Given the description of an element on the screen output the (x, y) to click on. 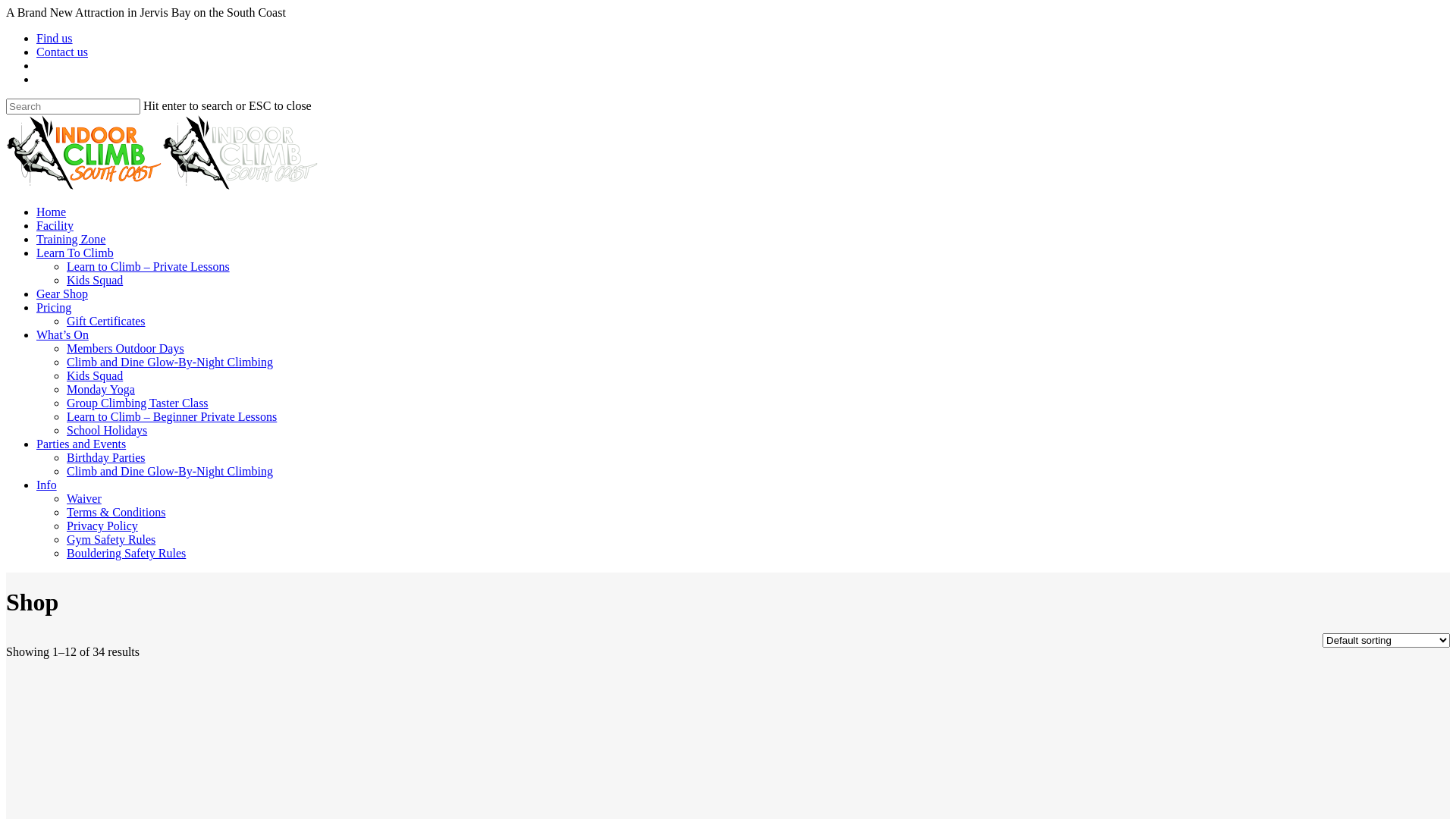
Skip to main content Element type: text (5, 5)
Parties and Events Element type: text (80, 443)
Gym Safety Rules Element type: text (110, 539)
Group Climbing Taster Class Element type: text (137, 402)
Learn To Climb Element type: text (74, 252)
Pricing Element type: text (53, 307)
School Holidays Element type: text (106, 429)
Gift Certificates Element type: text (105, 320)
Climb and Dine Glow-By-Night Climbing Element type: text (169, 361)
Facility Element type: text (54, 225)
Members Outdoor Days Element type: text (125, 348)
Info Element type: text (46, 484)
Kids Squad Element type: text (94, 375)
Birthday Parties Element type: text (105, 457)
Terms & Conditions Element type: text (115, 511)
Kids Squad Element type: text (94, 279)
Privacy Policy Element type: text (102, 525)
Find us Element type: text (54, 37)
Gear Shop Element type: text (61, 293)
Bouldering Safety Rules Element type: text (125, 552)
Home Element type: text (50, 211)
Contact us Element type: text (61, 51)
Climb and Dine Glow-By-Night Climbing Element type: text (169, 470)
Waiver Element type: text (83, 498)
Training Zone Element type: text (70, 238)
Monday Yoga Element type: text (100, 388)
